Given the description of an element on the screen output the (x, y) to click on. 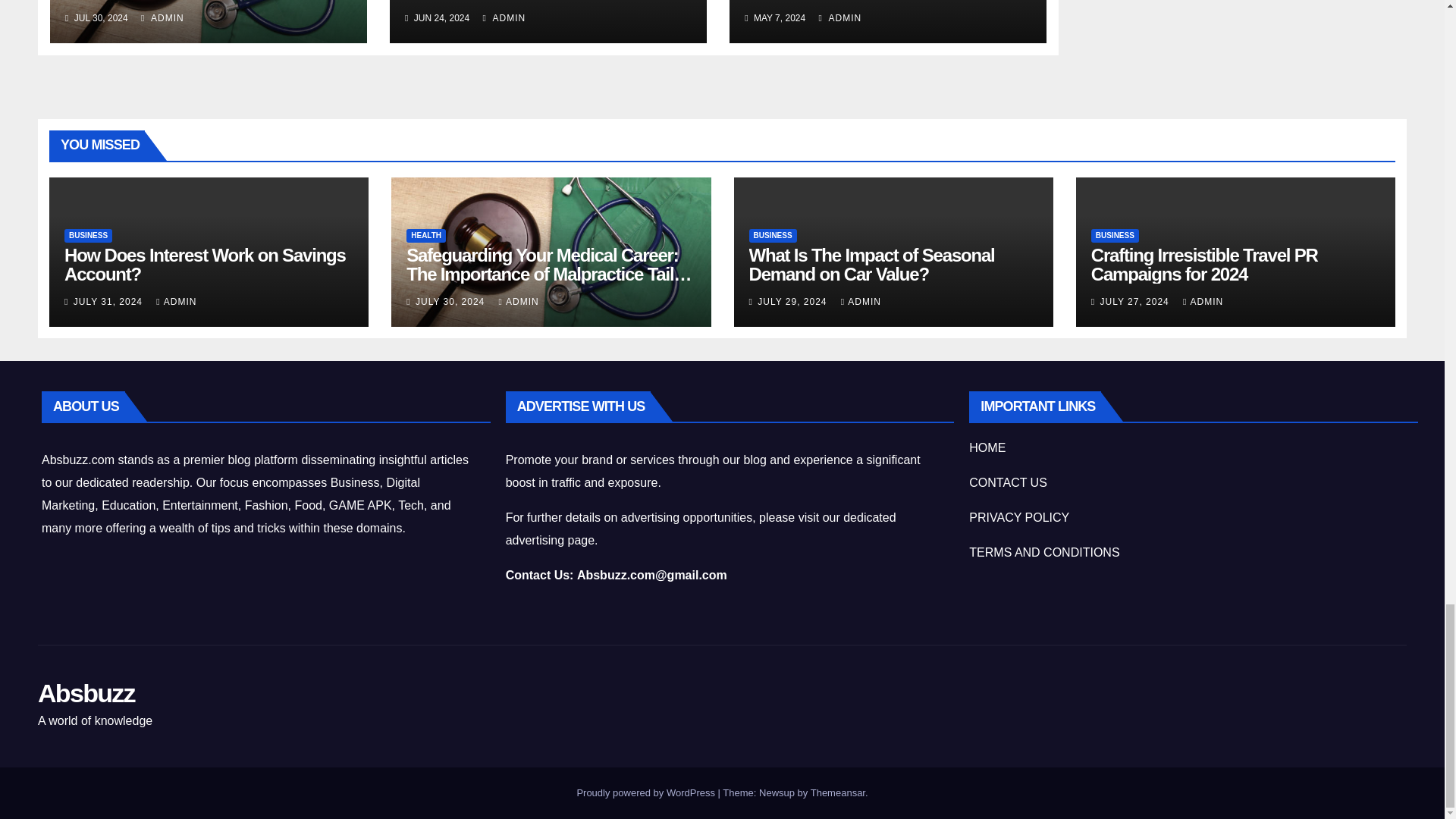
Permalink to: How Does Interest Work on Savings Account? (205, 264)
